Given the description of an element on the screen output the (x, y) to click on. 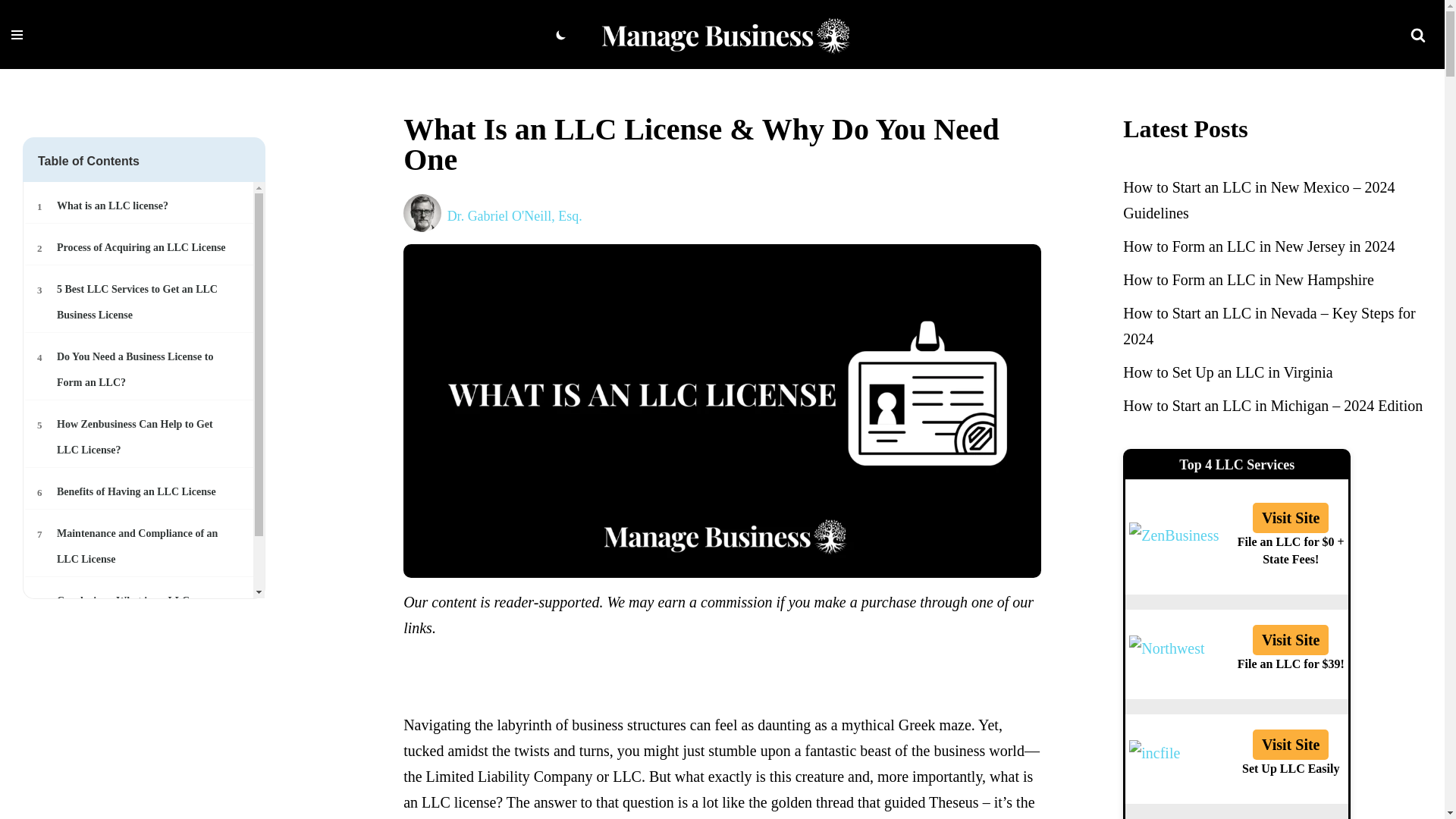
Conclusion - What is an LLC Business License? (139, 302)
5 Best LLC Services to Get an LLC Business License (139, 613)
Navigation Menu (139, 302)
How Zenbusiness Can Help to Get LLC License? (139, 613)
Process of Acquiring an LLC License (514, 215)
Do You Need a Business License to Form an LLC? (139, 546)
Maintenance and Compliance of an LLC License (139, 491)
What is an LLC license? (139, 436)
